Given the description of an element on the screen output the (x, y) to click on. 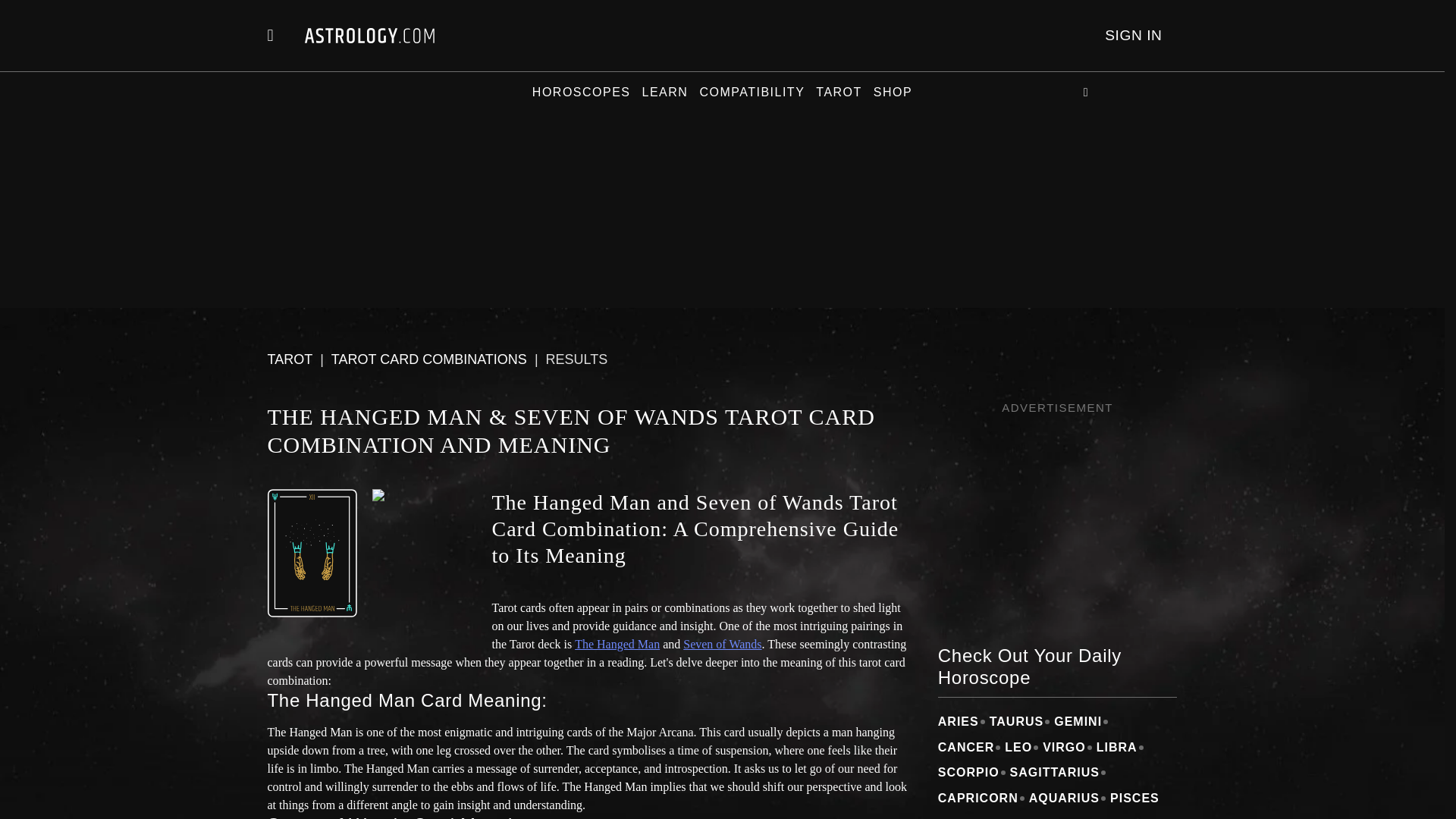
SIGN IN (1133, 35)
